Given the description of an element on the screen output the (x, y) to click on. 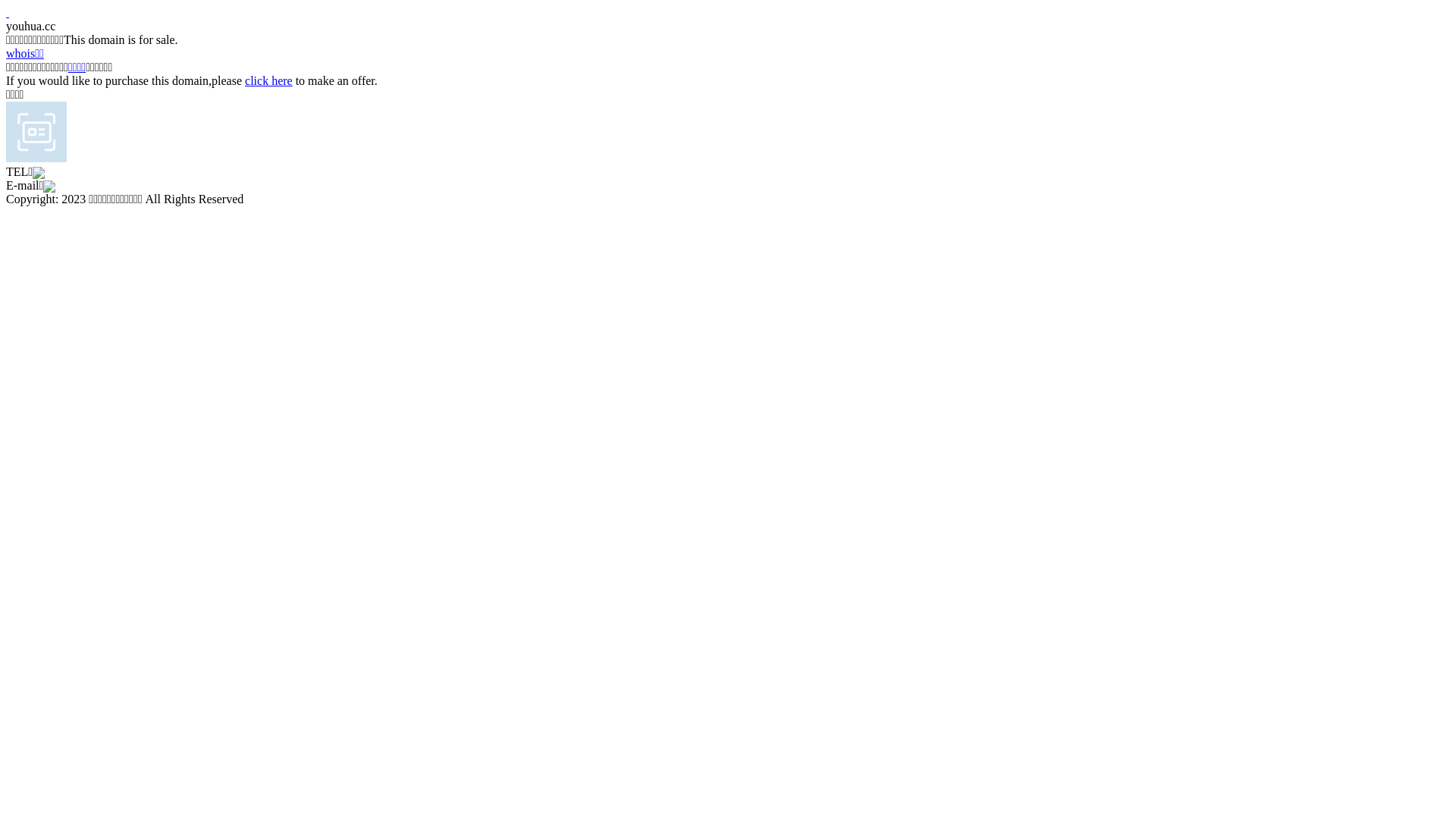
click here Element type: text (268, 80)
  Element type: text (7, 12)
